Given the description of an element on the screen output the (x, y) to click on. 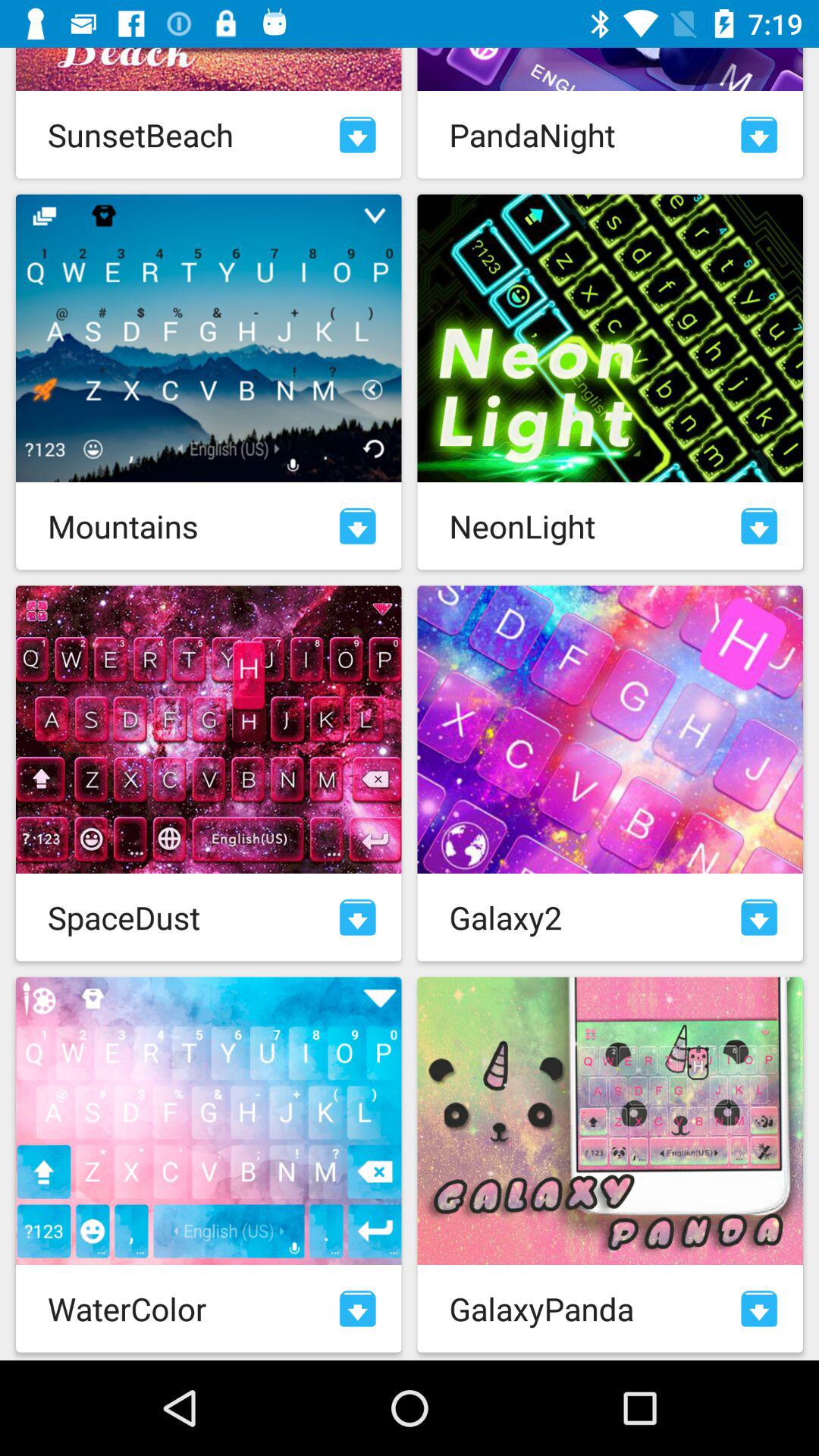
download image (759, 917)
